Given the description of an element on the screen output the (x, y) to click on. 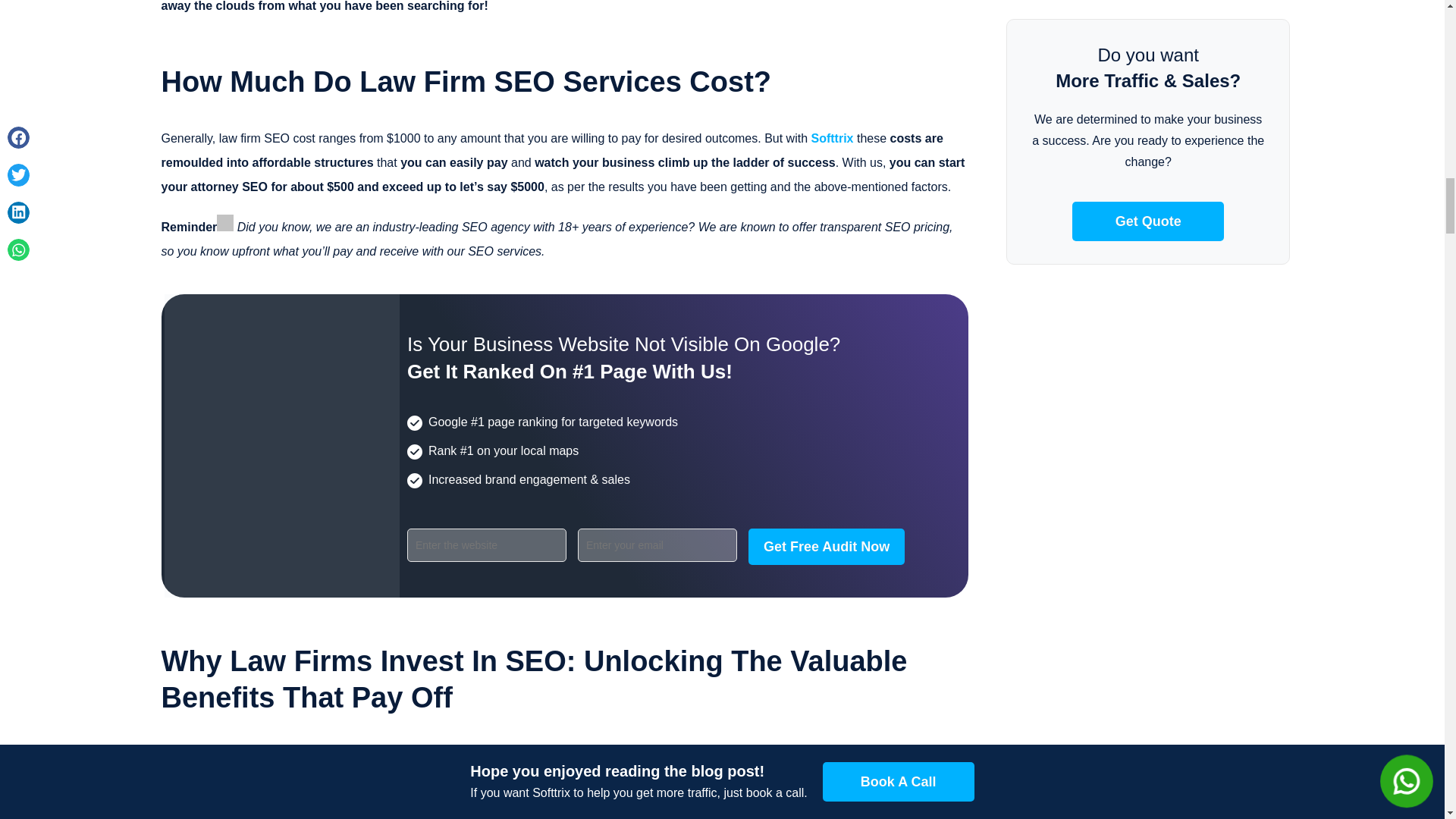
Get Free Audit Now (826, 546)
